Given the description of an element on the screen output the (x, y) to click on. 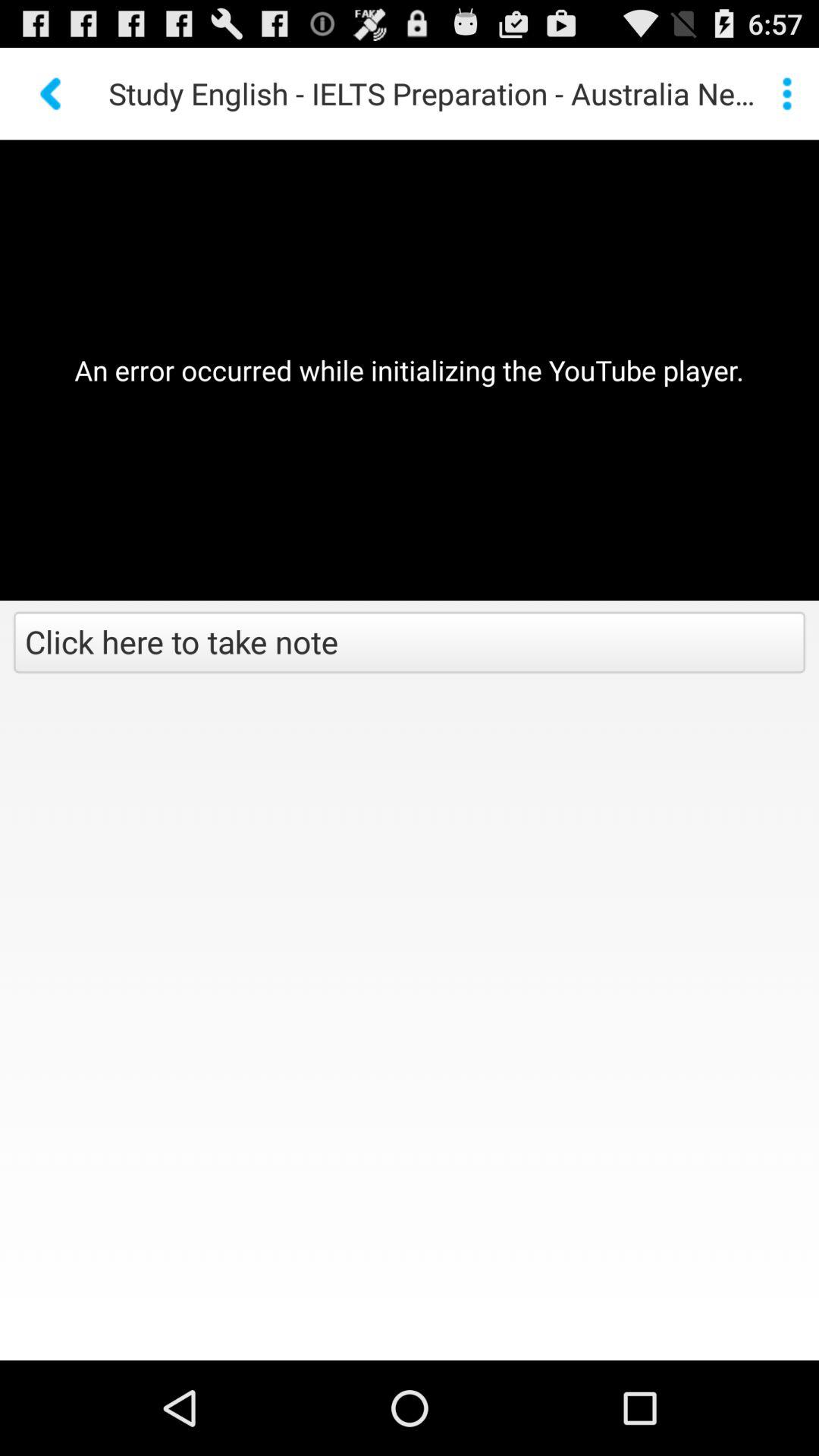
turn on app at the center (409, 643)
